Given the description of an element on the screen output the (x, y) to click on. 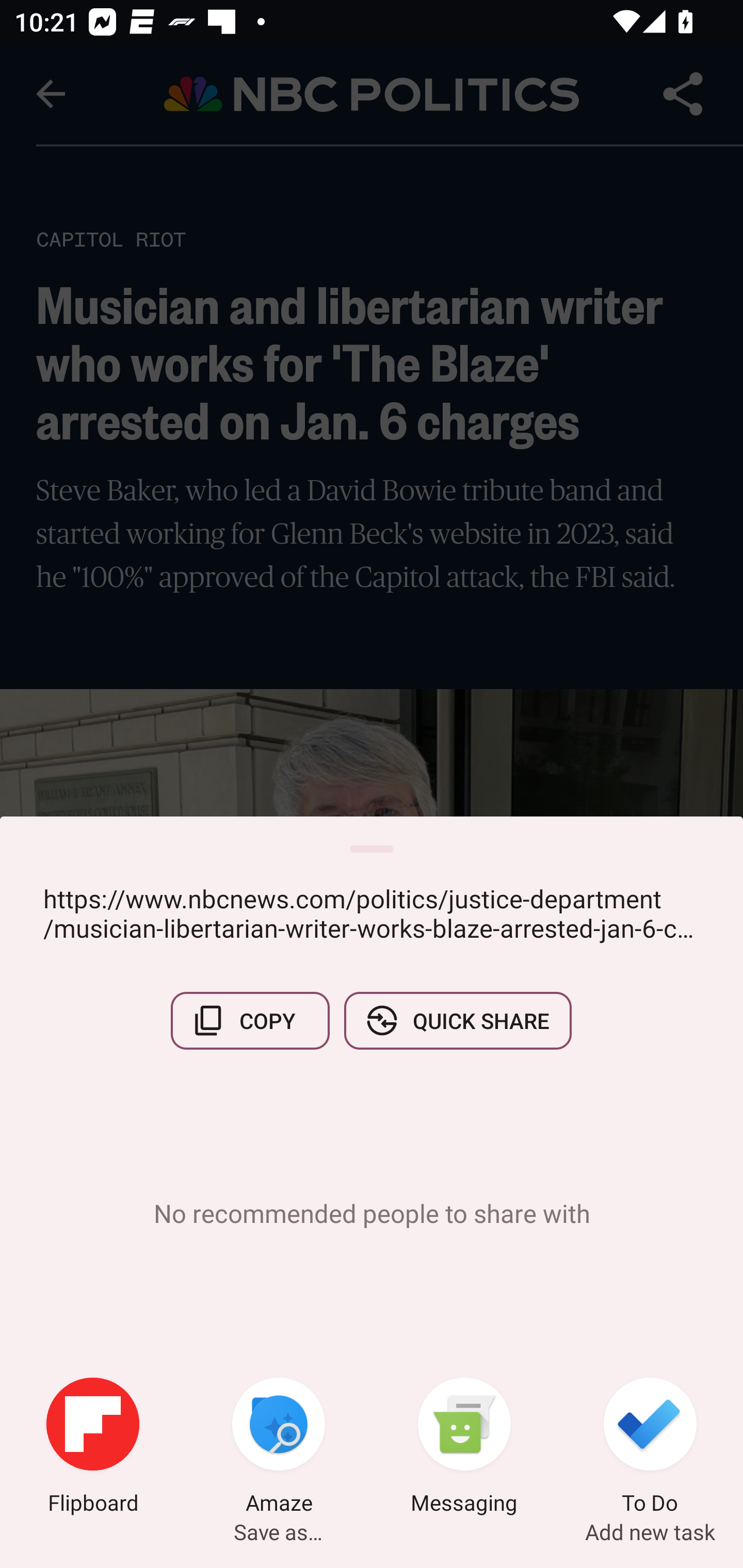
COPY (249, 1020)
QUICK SHARE (457, 1020)
Flipboard (92, 1448)
Amaze Save as… (278, 1448)
Messaging (464, 1448)
To Do Add new task (650, 1448)
